Given the description of an element on the screen output the (x, y) to click on. 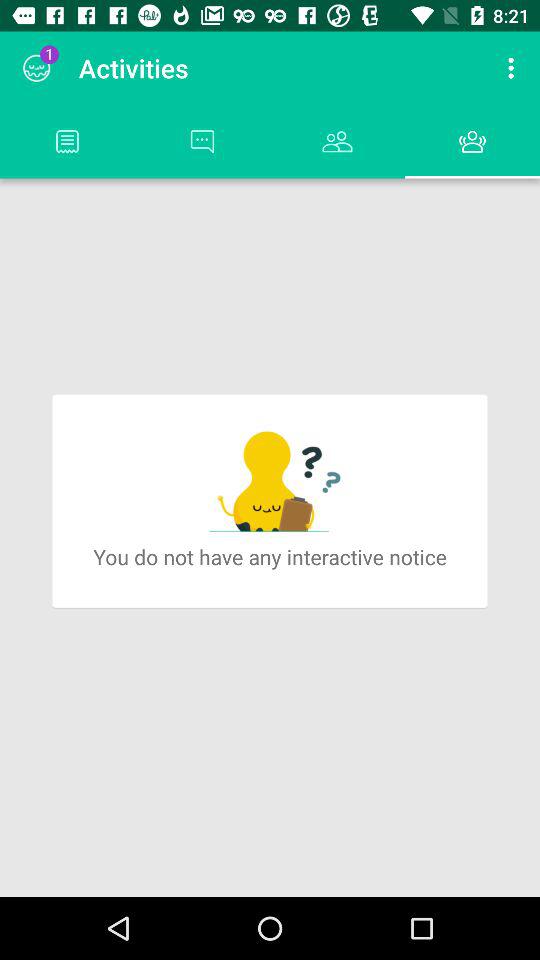
open app next to activities icon (36, 68)
